Given the description of an element on the screen output the (x, y) to click on. 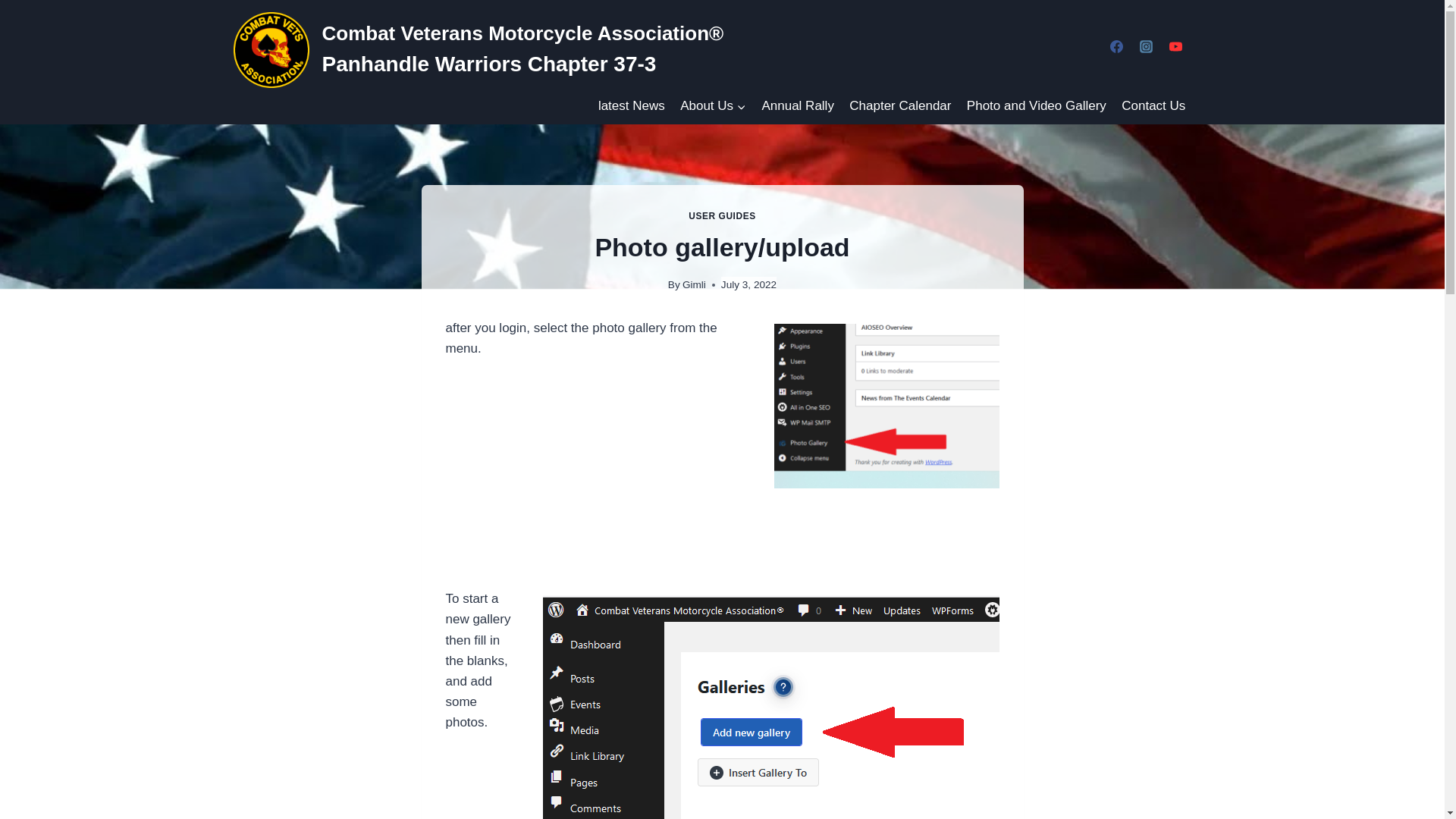
Annual Rally (797, 105)
Photo and Video Gallery (1036, 105)
Chapter Calendar (900, 105)
latest News (631, 105)
Contact Us (1152, 105)
About Us (713, 105)
USER GUIDES (721, 215)
Gimli (694, 284)
